Given the description of an element on the screen output the (x, y) to click on. 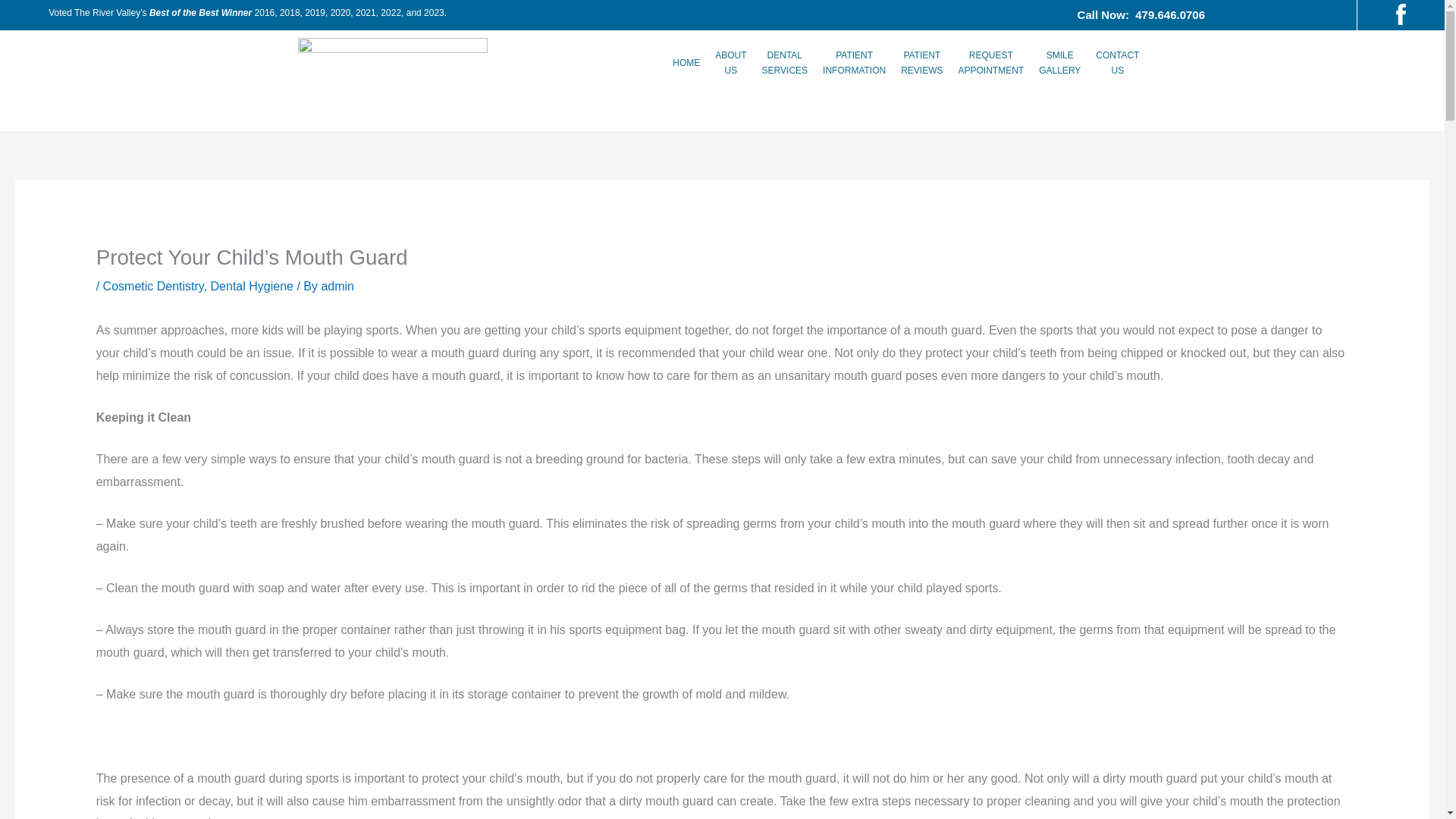
Call Now:  479.646.0706 (1141, 14)
View all posts by admin (991, 62)
